Given the description of an element on the screen output the (x, y) to click on. 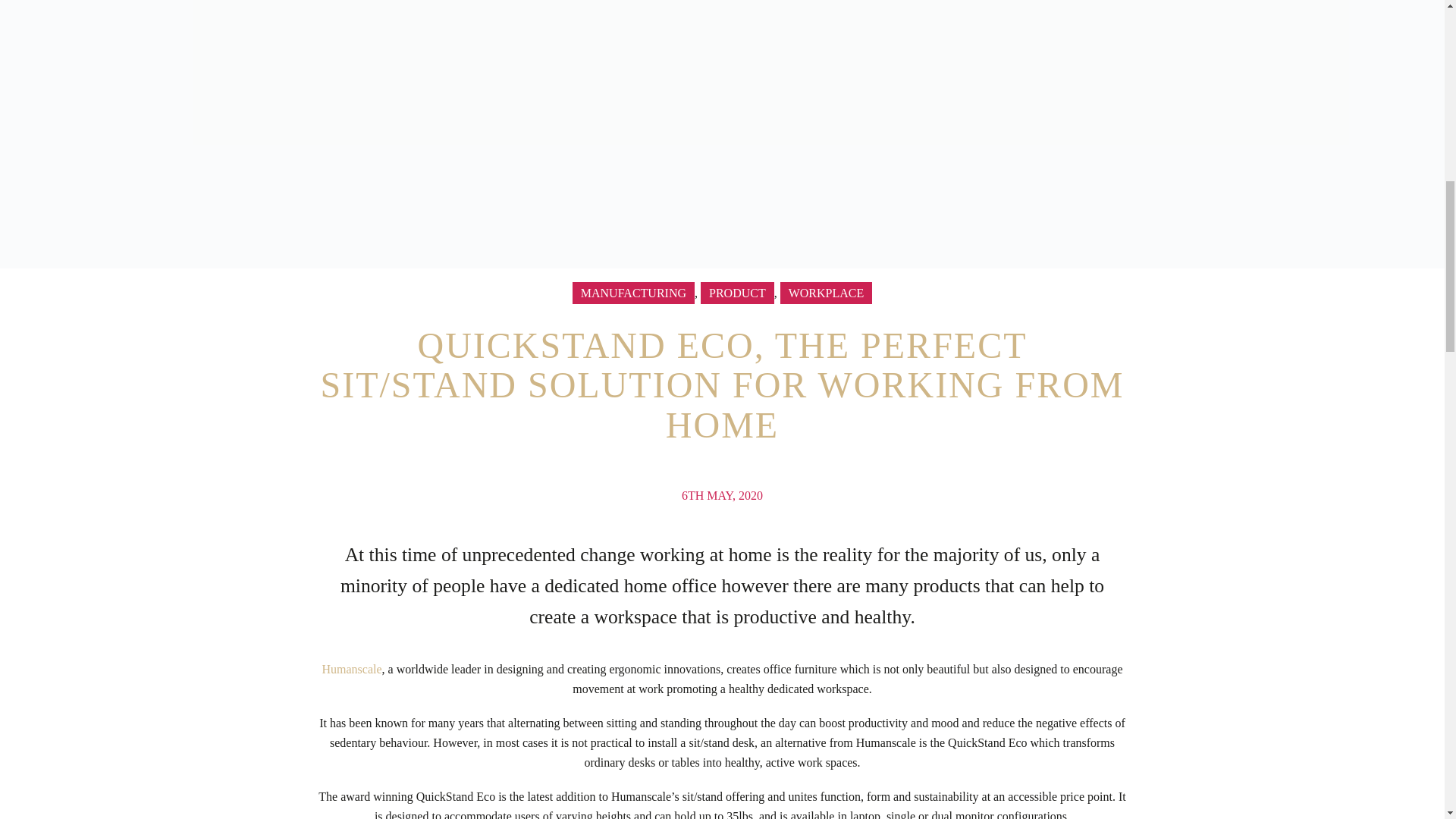
WORKPLACE (826, 292)
MANUFACTURING (633, 292)
6TH MAY, 2020 (721, 495)
Humanscale (351, 668)
PRODUCT (737, 292)
